Given the description of an element on the screen output the (x, y) to click on. 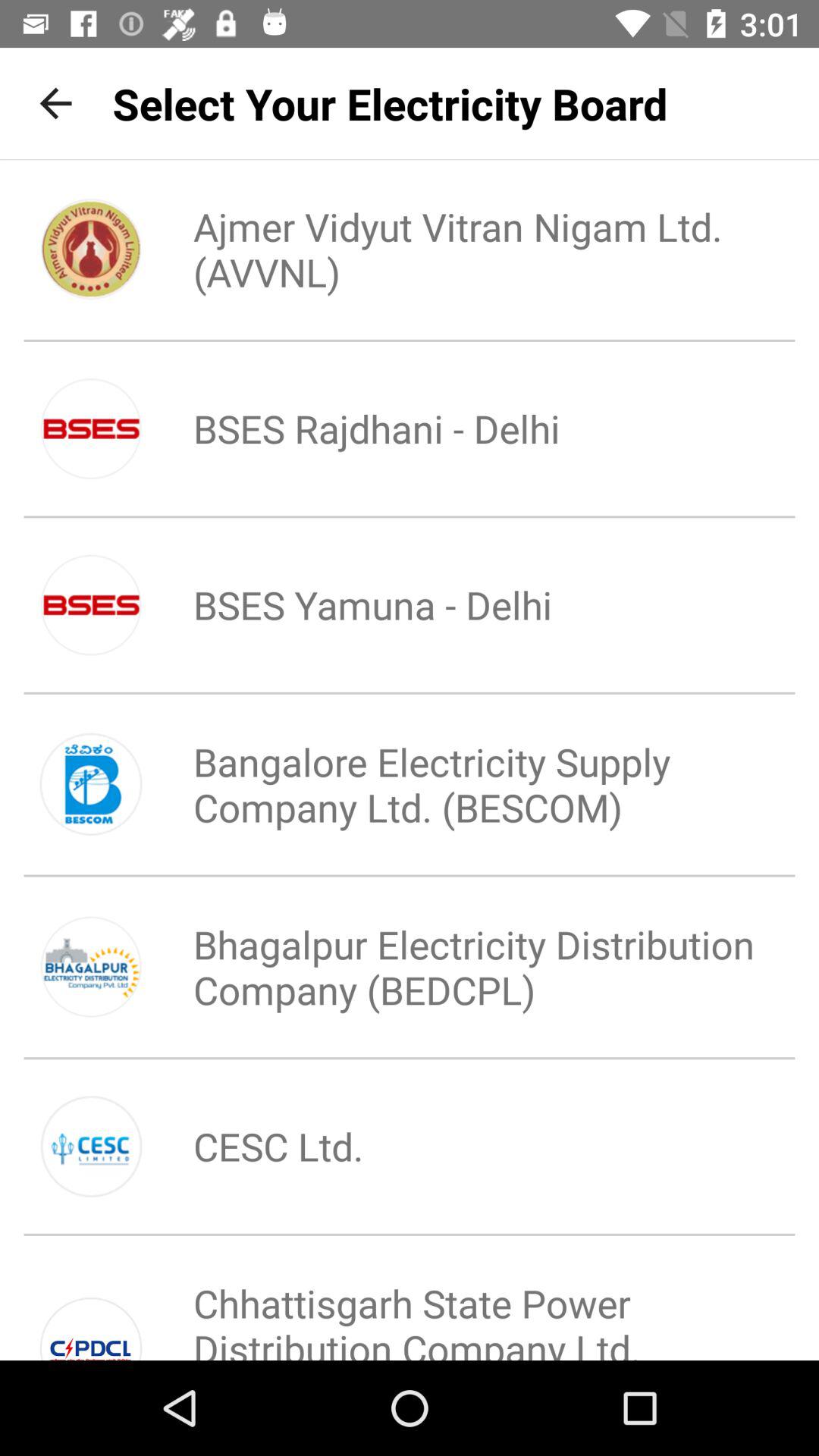
press the icon above bhagalpur electricity distribution (460, 784)
